Given the description of an element on the screen output the (x, y) to click on. 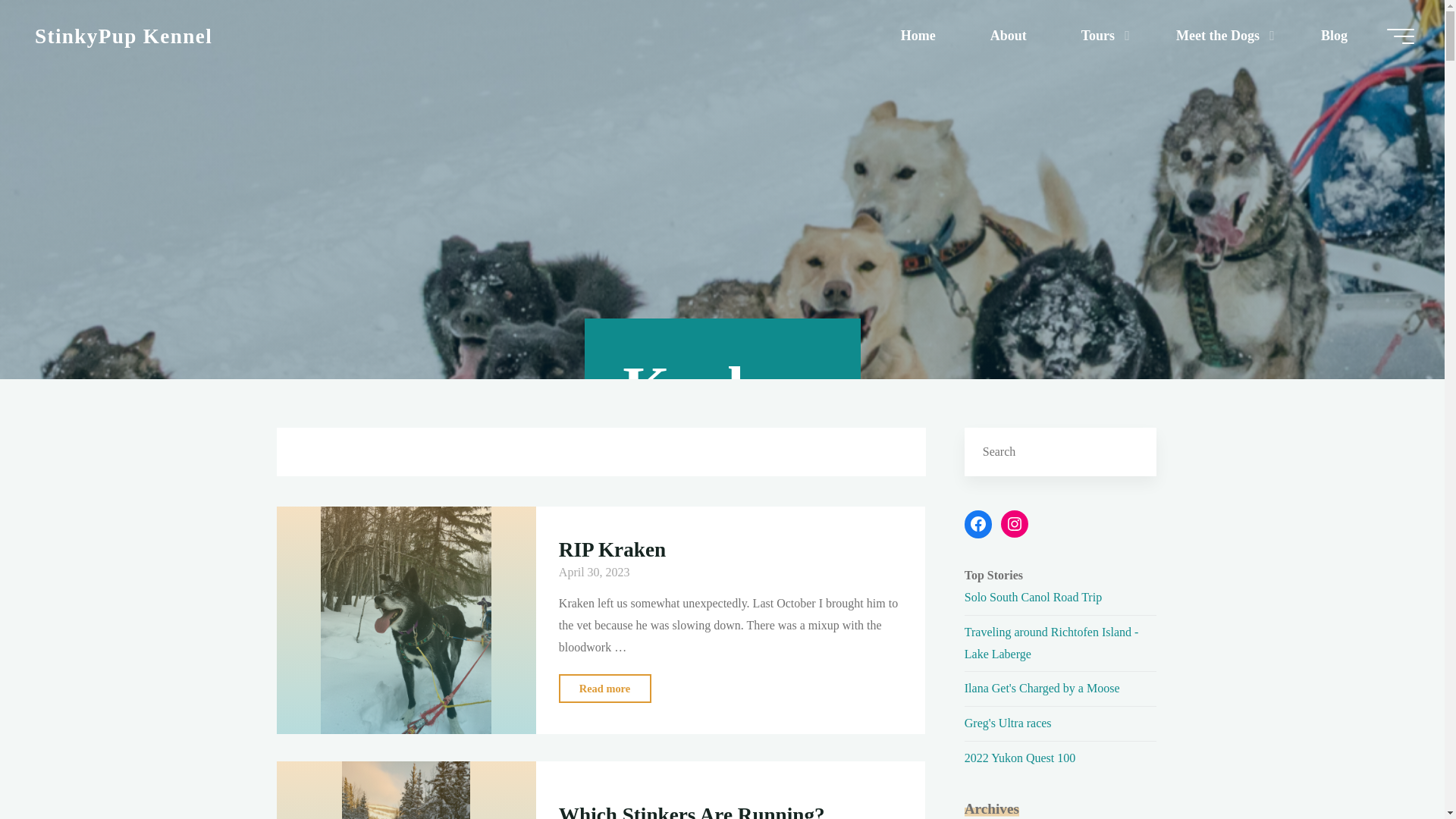
StinkyPup Kennel (123, 35)
Tours (1101, 35)
We are a rescue dog sledding kennel in Whitehorse, Yukon  (604, 687)
Which Stinkers Are Running? (123, 35)
Home (405, 790)
About (917, 35)
RIP Kraken (1008, 35)
Meet the Dogs (405, 619)
Blog (1221, 35)
